Given the description of an element on the screen output the (x, y) to click on. 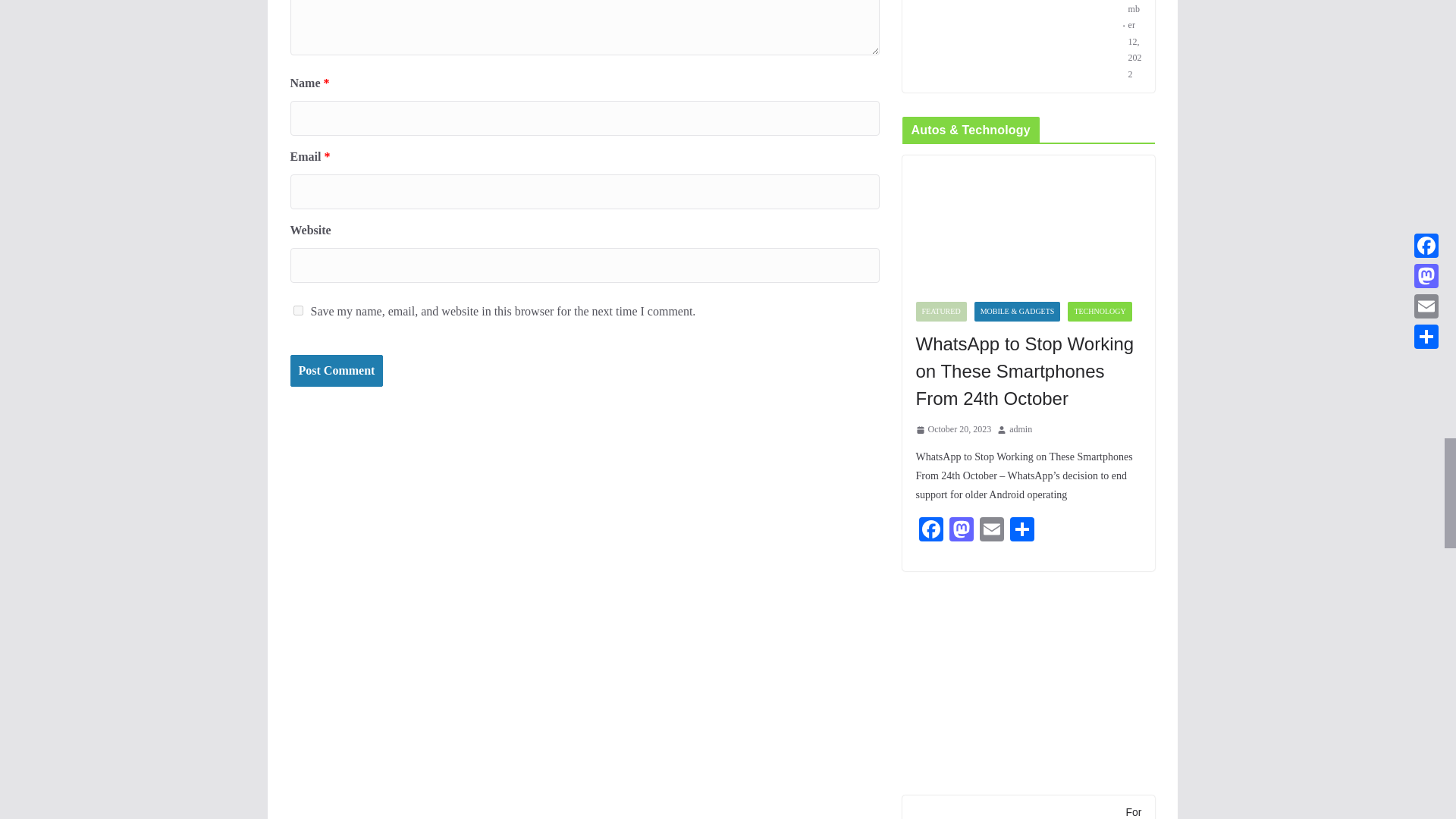
Post Comment (335, 370)
yes (297, 310)
